Given the description of an element on the screen output the (x, y) to click on. 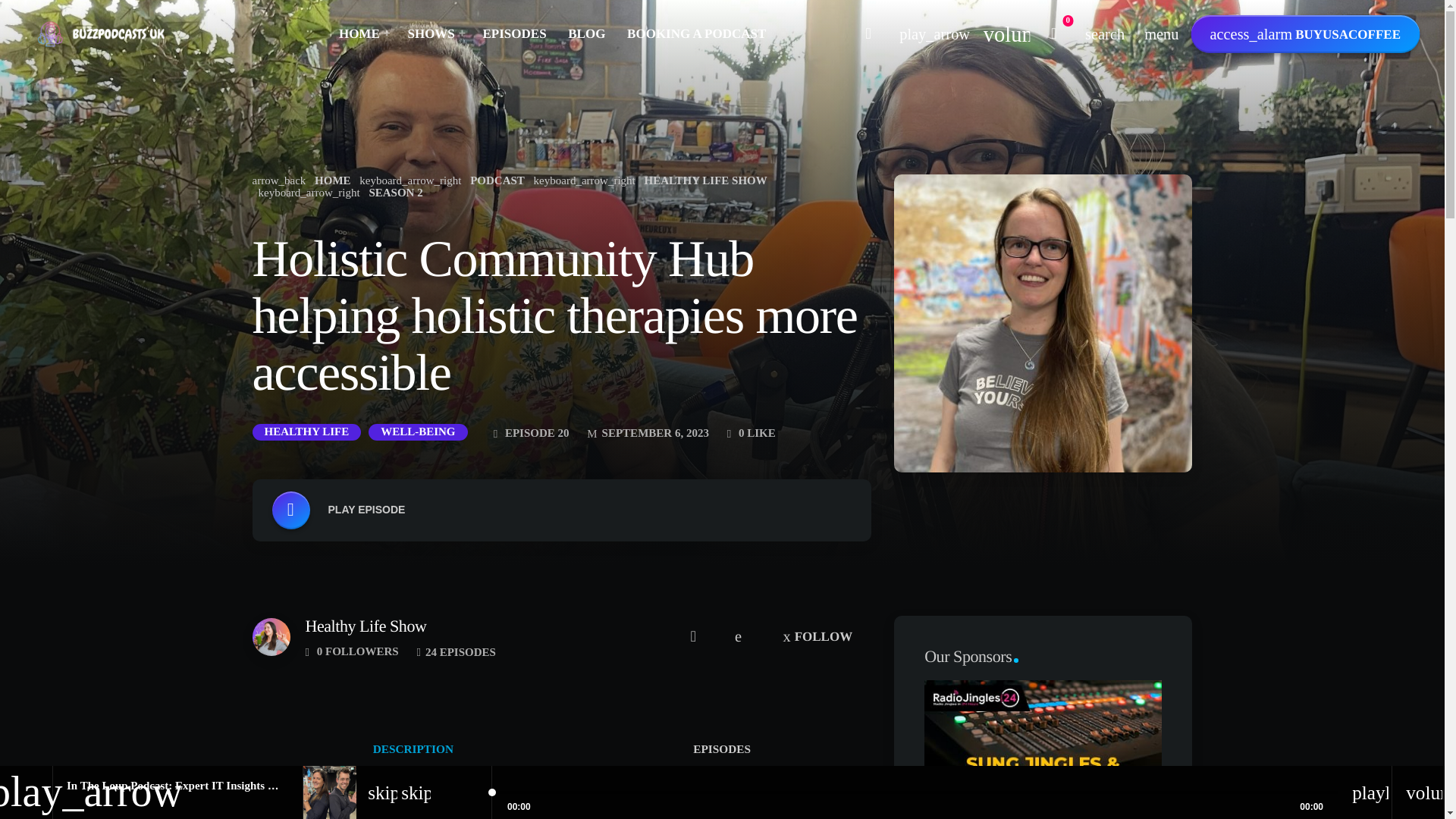
BLOG (586, 34)
HOME (361, 34)
BOOKING A PODCAST (697, 34)
menu (1161, 34)
EPISODES (514, 34)
0 (1054, 34)
In The Loup Podcast: Expert IT Insights With Jack Hodgins (213, 784)
SHOWS (434, 34)
search (1104, 34)
